Given the description of an element on the screen output the (x, y) to click on. 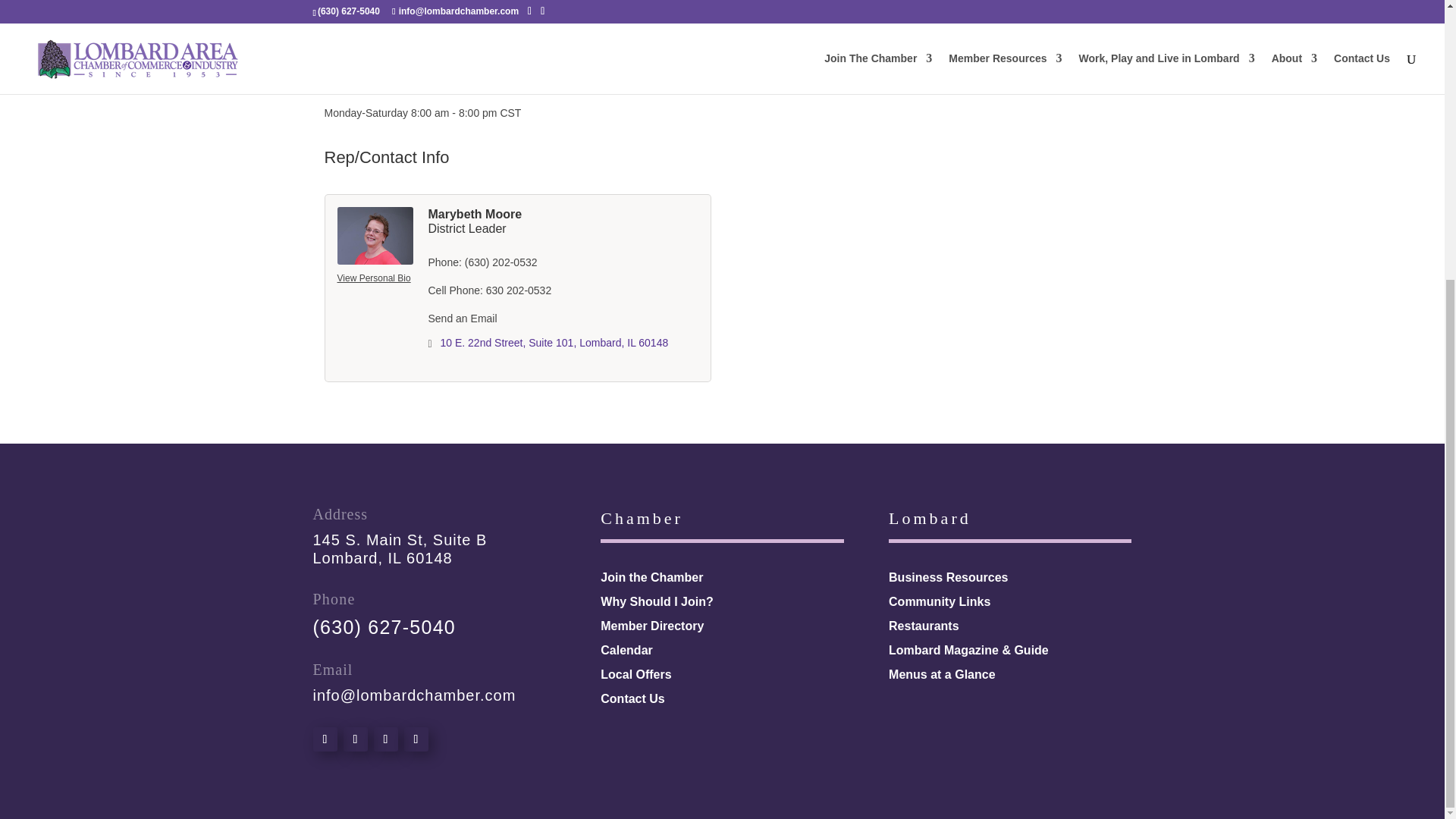
Visit Website (367, 24)
Follow on LinkedIn (415, 739)
Follow on Pinterest (384, 739)
Follow on Facebook (324, 739)
Follow on X (354, 739)
